Given the description of an element on the screen output the (x, y) to click on. 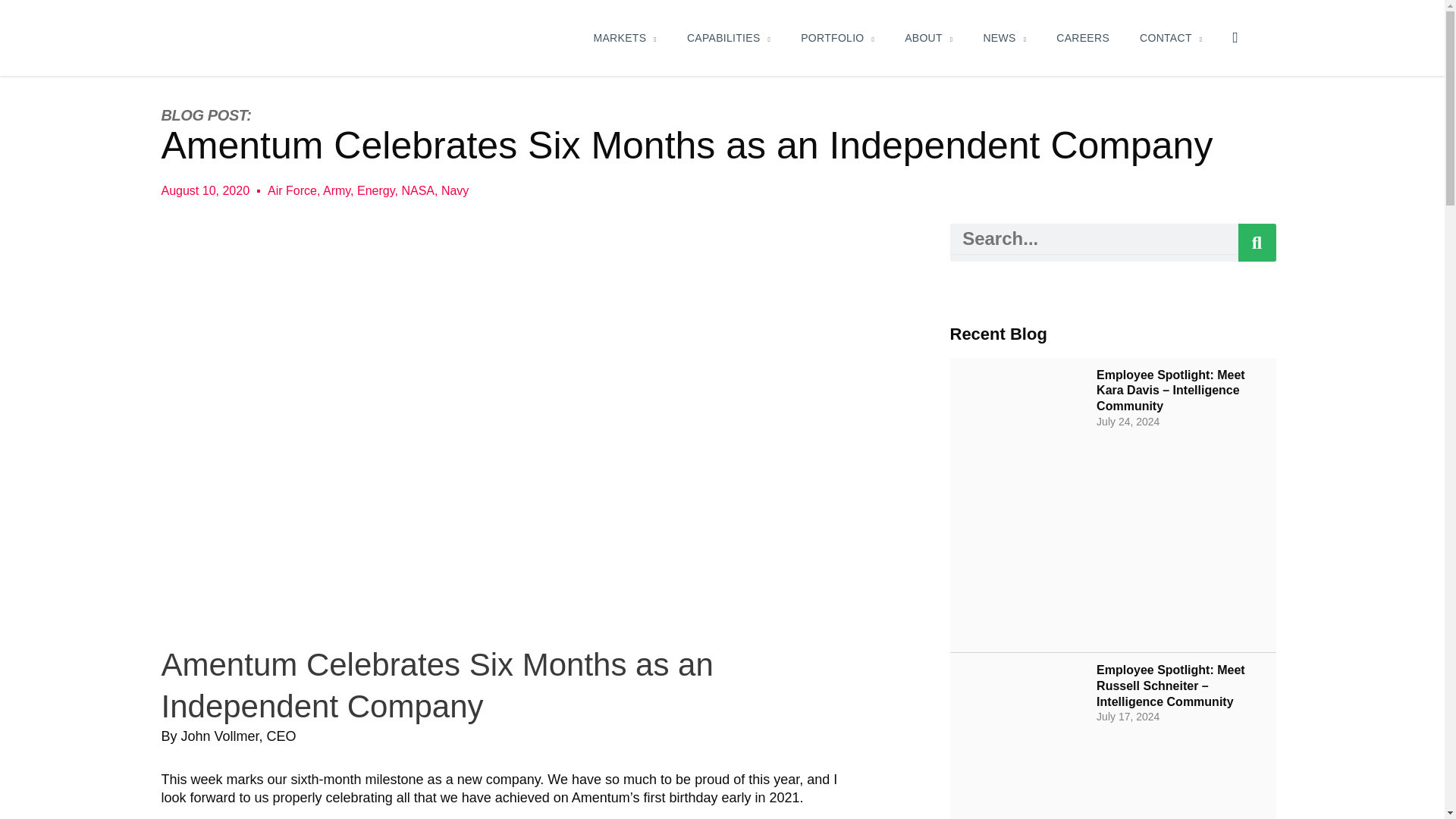
PORTFOLIO (837, 37)
MARKETS (624, 37)
CAPABILITIES (728, 37)
